Given the description of an element on the screen output the (x, y) to click on. 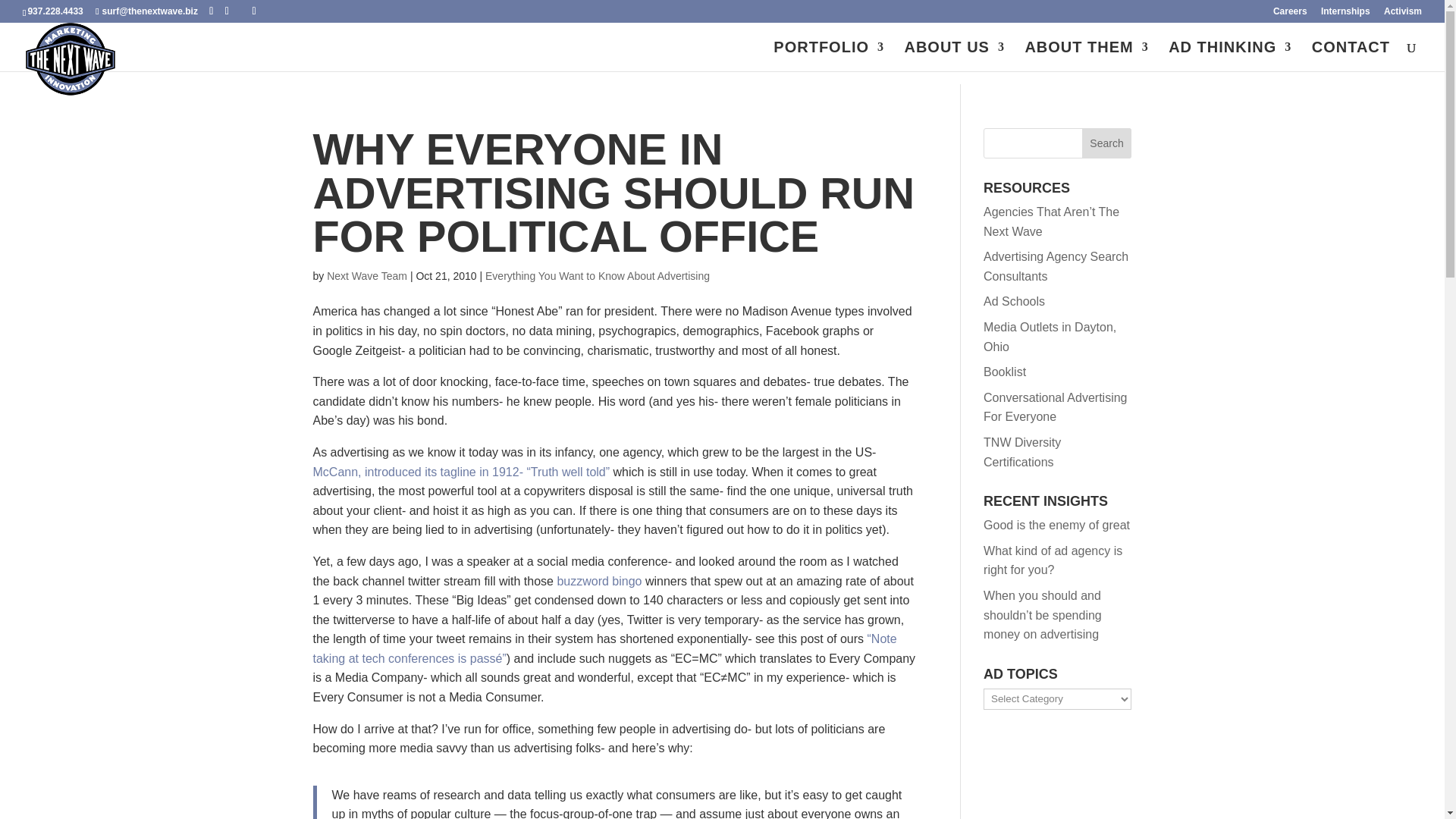
Everything You Want to Know About Advertising (597, 275)
CONTACT (1350, 56)
WHY EVERYONE IN ADVERTISING SHOULD RUN FOR POLITICAL OFFICE (613, 193)
link to Wikipedia on Buzzword Bingo (599, 581)
Internships (1345, 14)
Search (1106, 142)
Careers (1289, 14)
Posts by Next Wave Team (366, 275)
link to McCann in wikipedia (461, 472)
ABOUT THEM (1086, 56)
